Given the description of an element on the screen output the (x, y) to click on. 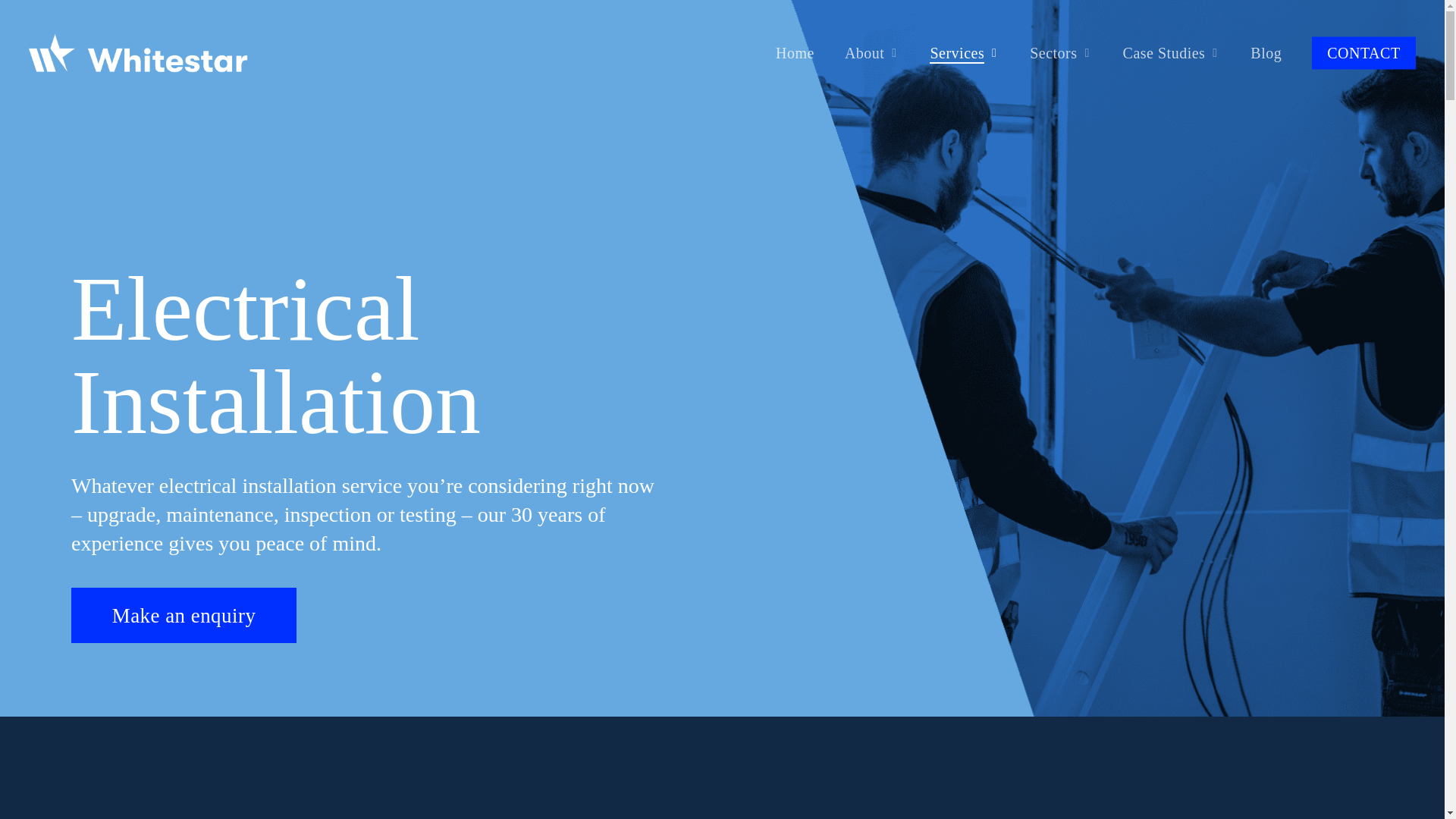
Blog (1265, 52)
Services (964, 52)
Case Studies (1171, 52)
About (871, 52)
Sectors (1060, 52)
Home (794, 52)
